Given the description of an element on the screen output the (x, y) to click on. 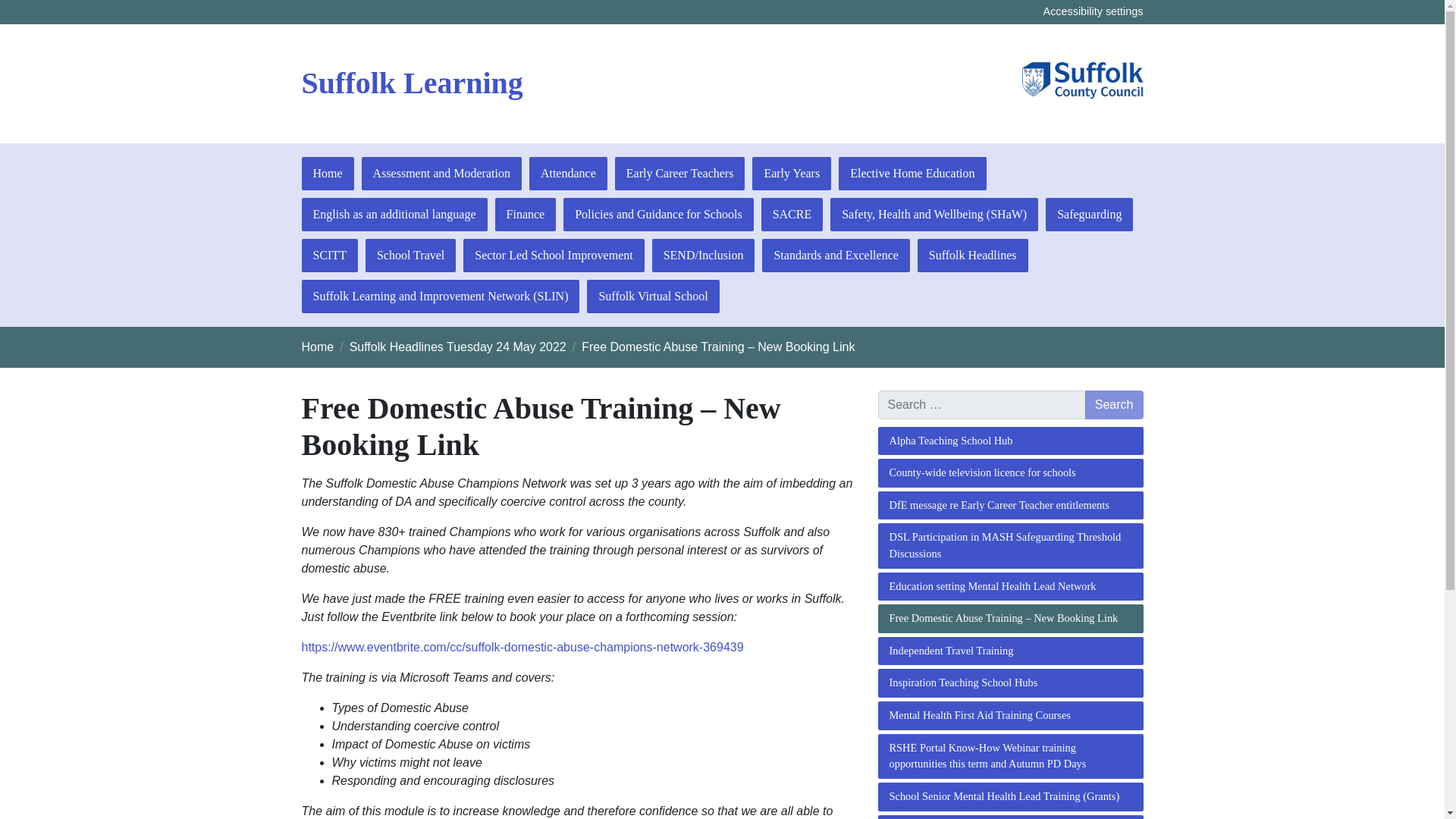
Elective Home Education (911, 173)
Standards and Excellence (834, 255)
Attendance (568, 173)
Alpha Teaching School Hub (1009, 440)
Home (327, 173)
SACRE (792, 214)
Finance (525, 214)
SCITT (329, 255)
Elective Home Education (911, 173)
Assessment and Moderation (441, 173)
